Given the description of an element on the screen output the (x, y) to click on. 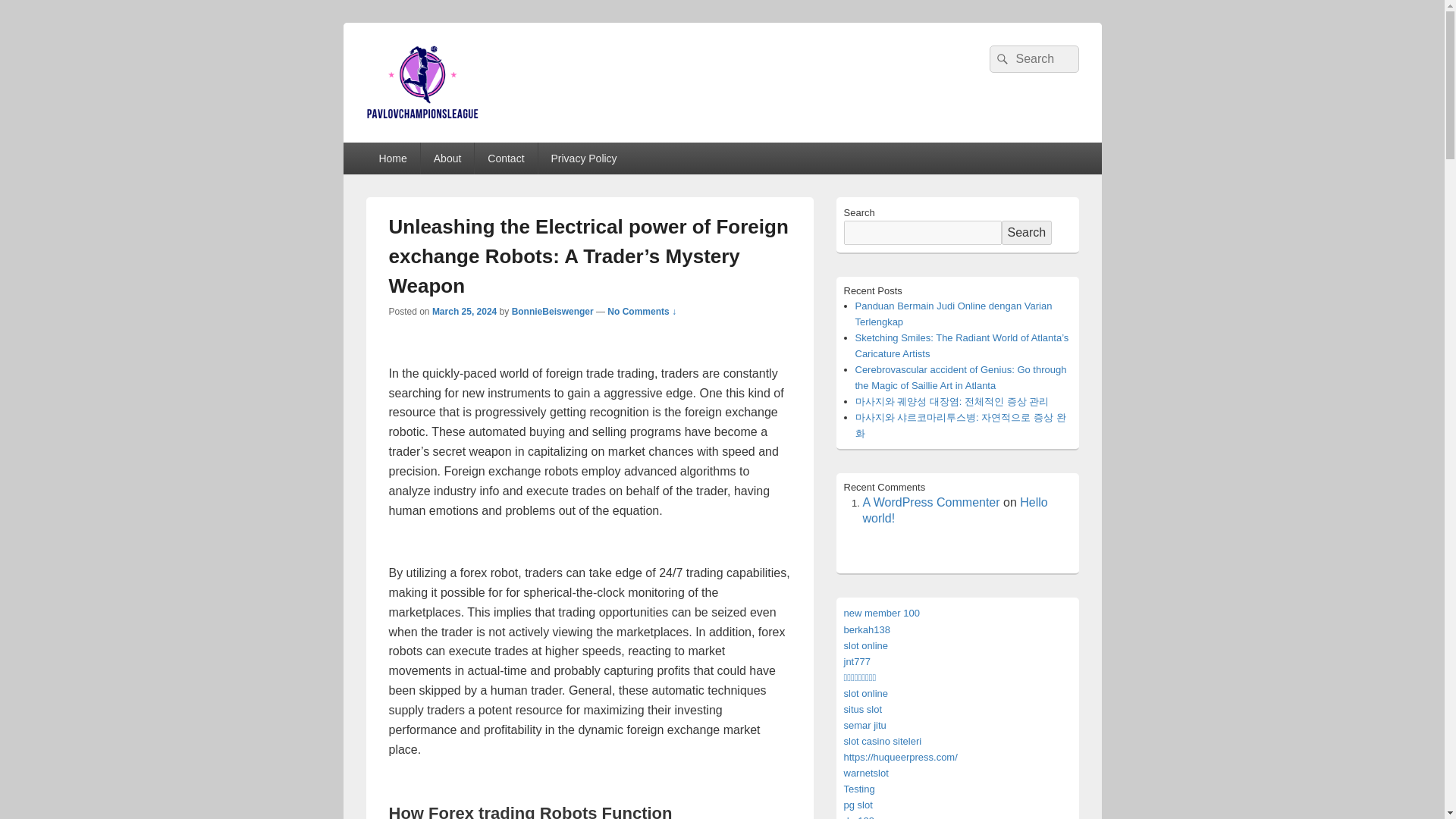
slot online (865, 693)
Testing (859, 788)
slot online (865, 645)
BonnieBeiswenger (553, 311)
Home (392, 158)
Search for: (1033, 58)
Hello world! (955, 510)
Privacy Policy (584, 158)
A WordPress Commenter (931, 502)
